Given the description of an element on the screen output the (x, y) to click on. 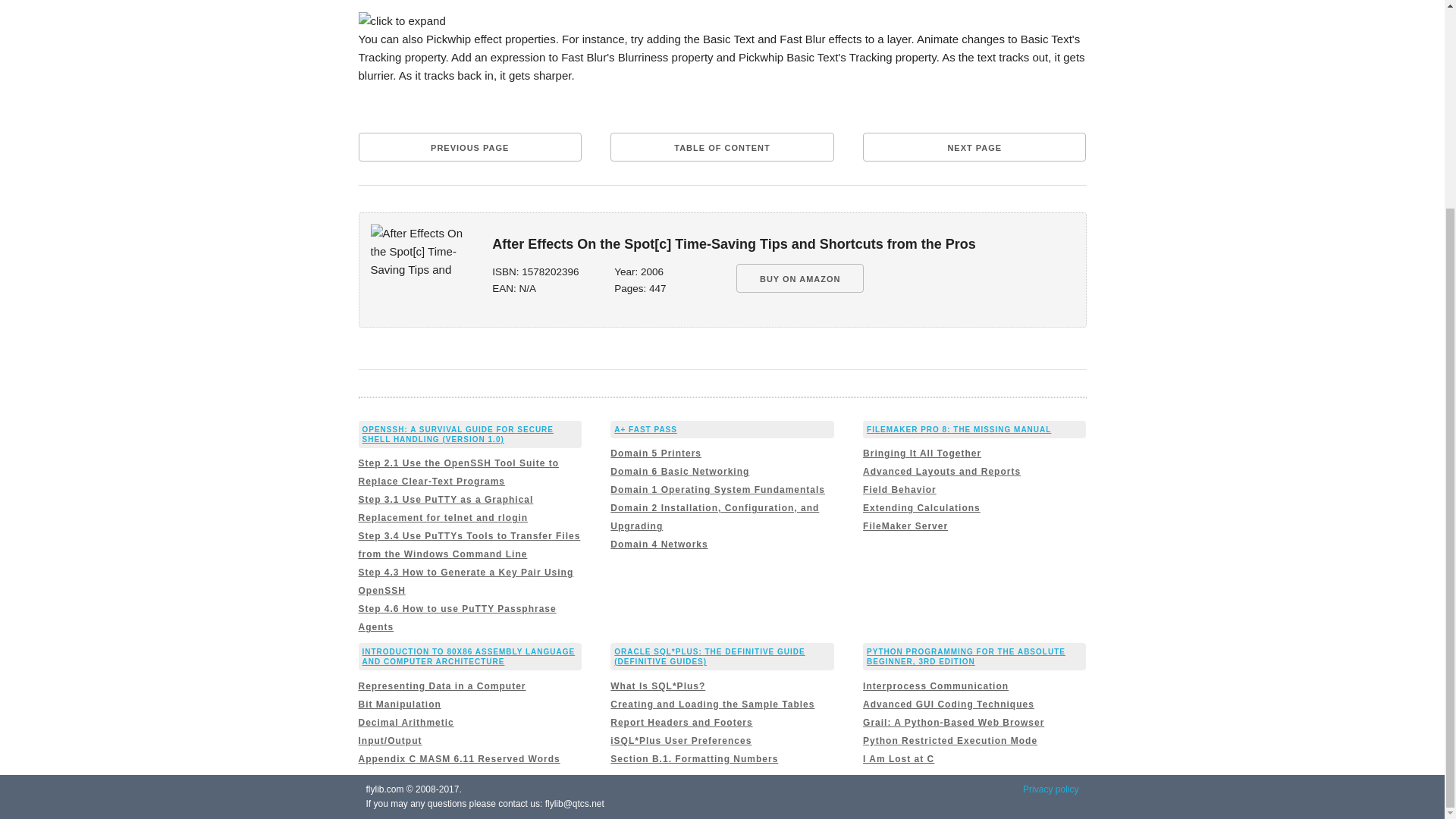
Report Headers and Footers (681, 722)
Domain 5 Printers (655, 452)
FILEMAKER PRO 8: THE MISSING MANUAL (958, 429)
Creating and Loading the Sample Tables (711, 704)
Domain 2 Installation, Configuration, and Upgrading (714, 516)
Bit Manipulation (399, 704)
Interprocess Communication (936, 685)
BUY ON AMAZON (800, 277)
Decimal Arithmetic (405, 722)
Step 4.6 How to use PuTTY Passphrase Agents (457, 617)
Extending Calculations (921, 507)
Domain 4 Networks (658, 543)
